Given the description of an element on the screen output the (x, y) to click on. 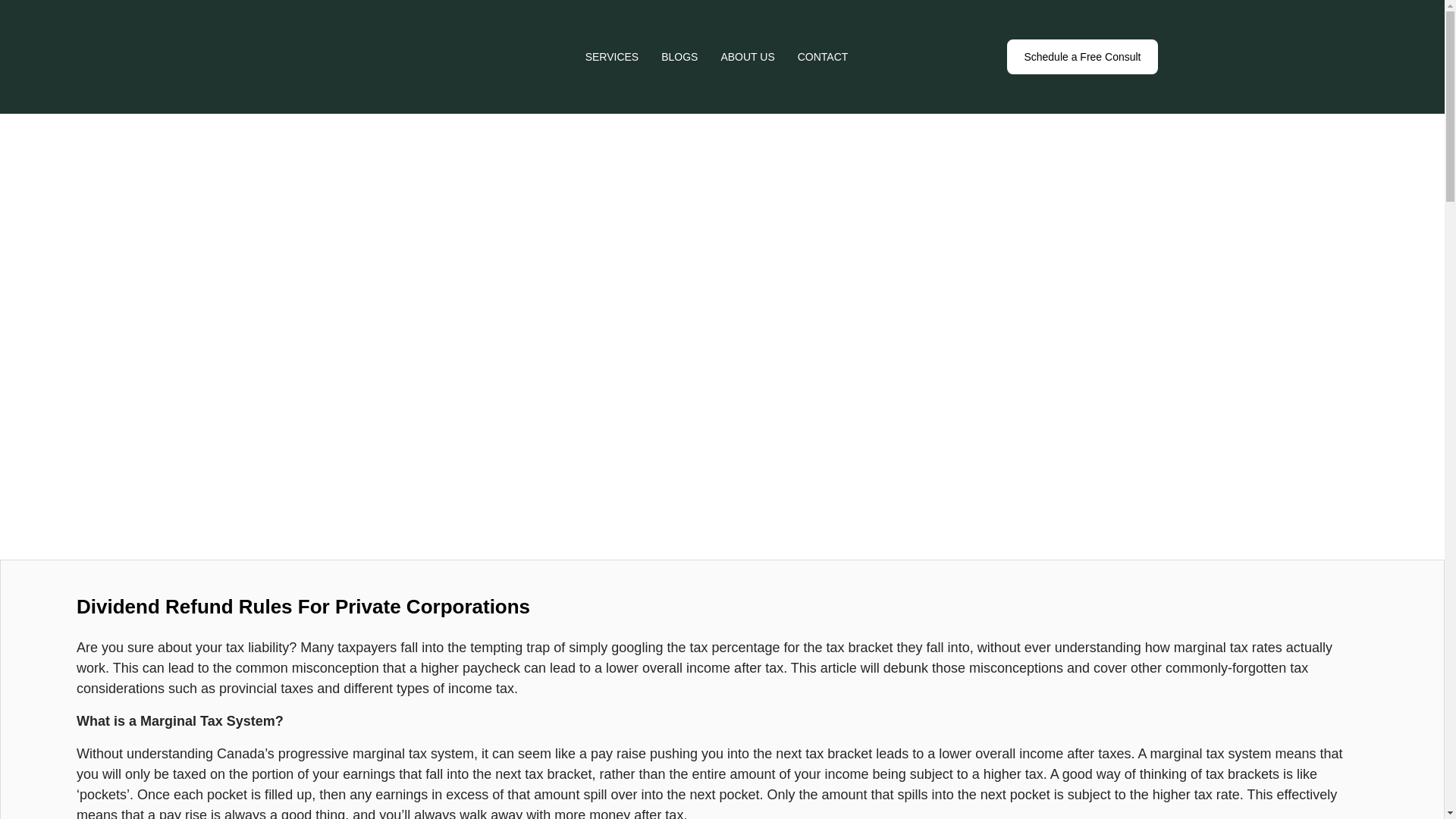
SERVICES (612, 56)
ABOUT US (747, 56)
Schedule a Free Consult (1082, 56)
CONTACT (822, 56)
